Given the description of an element on the screen output the (x, y) to click on. 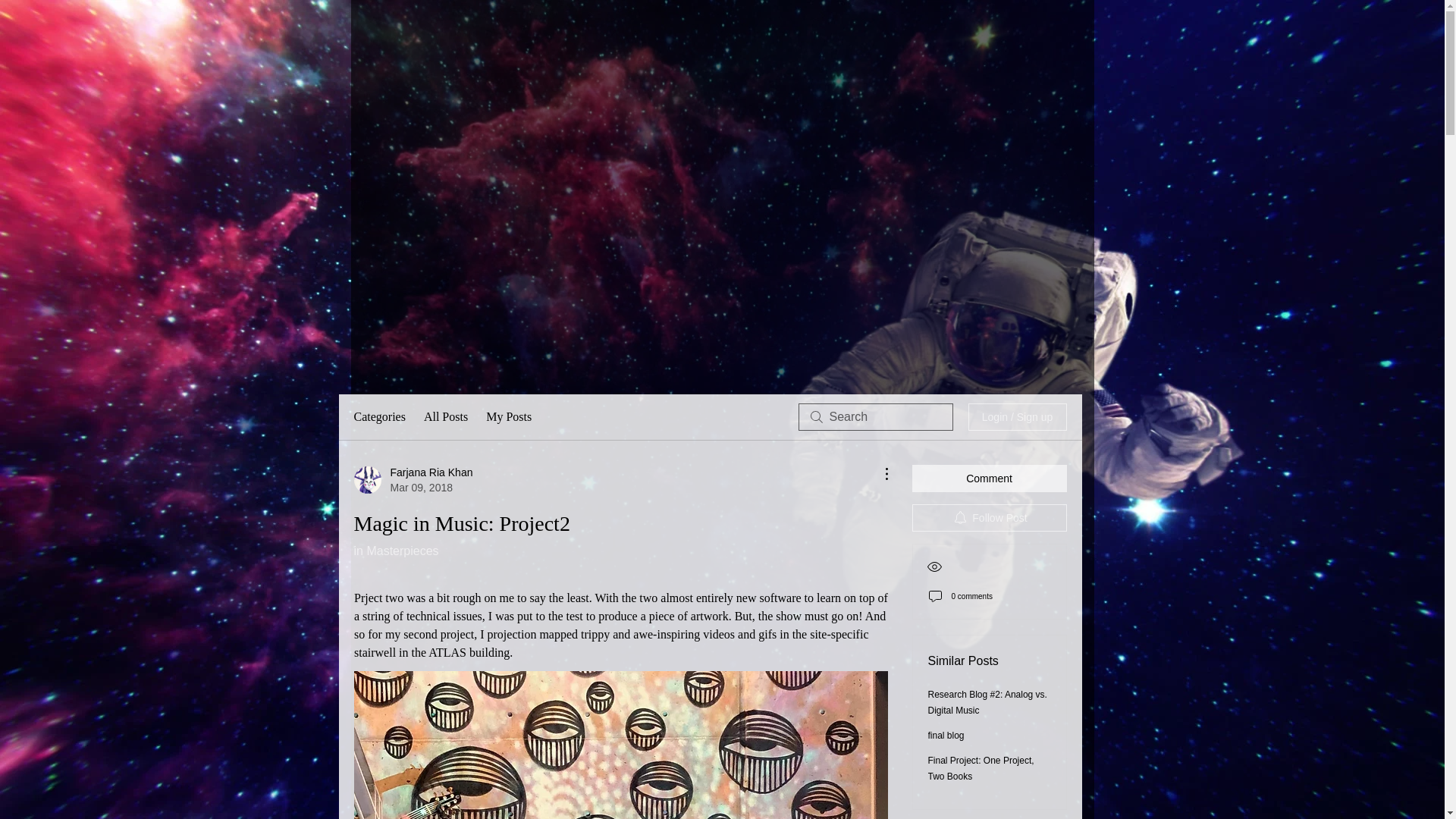
Follow Post (988, 517)
Final Project: One Project, Two Books (980, 768)
in Masterpieces (395, 550)
Categories (378, 416)
Comment (988, 478)
final blog (945, 735)
All Posts (445, 416)
My Posts (508, 416)
